Given the description of an element on the screen output the (x, y) to click on. 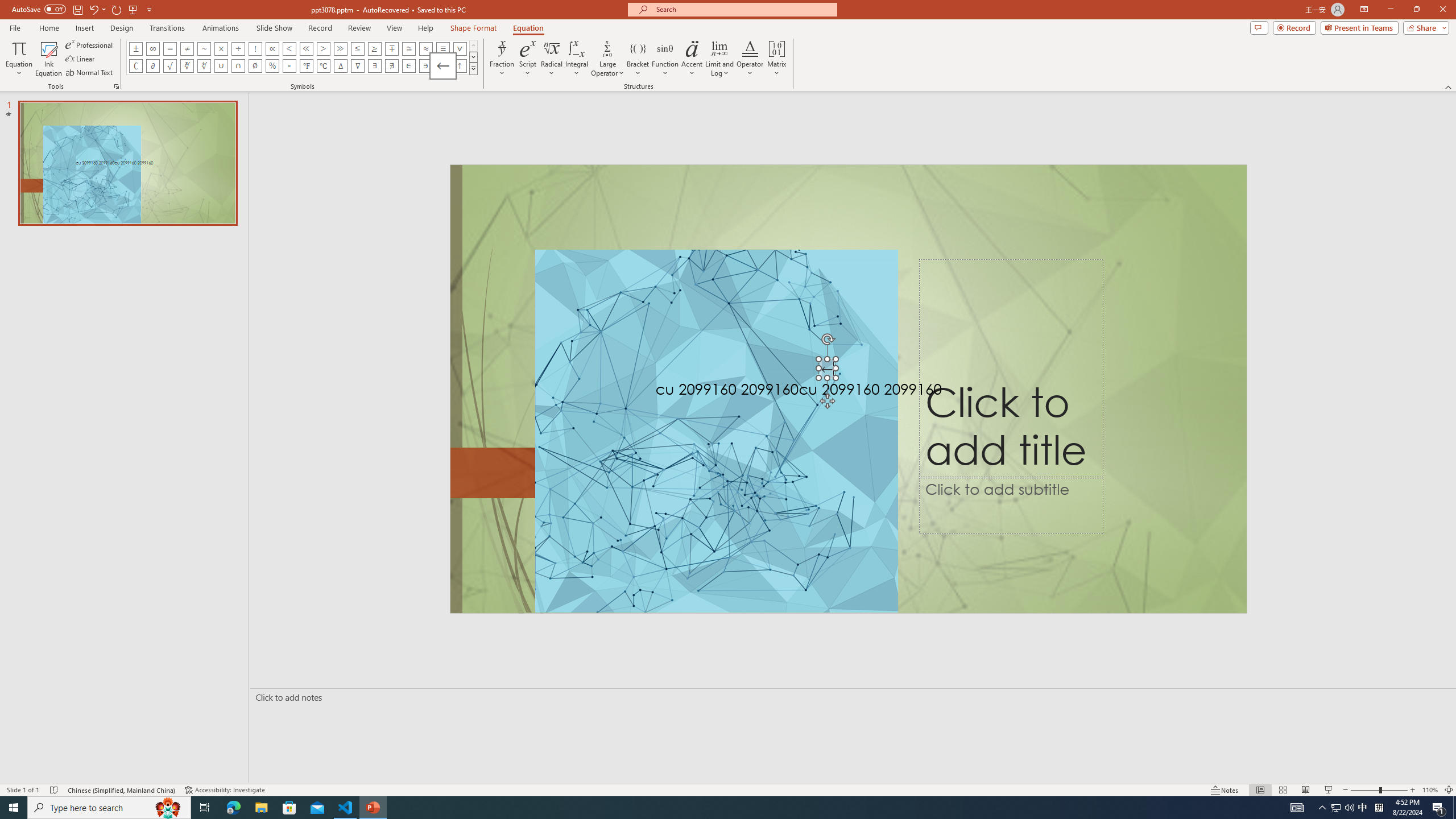
Normal Text (90, 72)
Equation Symbol Element Of (408, 65)
Script (527, 58)
Integral (576, 58)
Equation Symbol Approximately Equal To (408, 48)
Equation Symbol There Does Not Exist (391, 65)
Operator (749, 58)
